Given the description of an element on the screen output the (x, y) to click on. 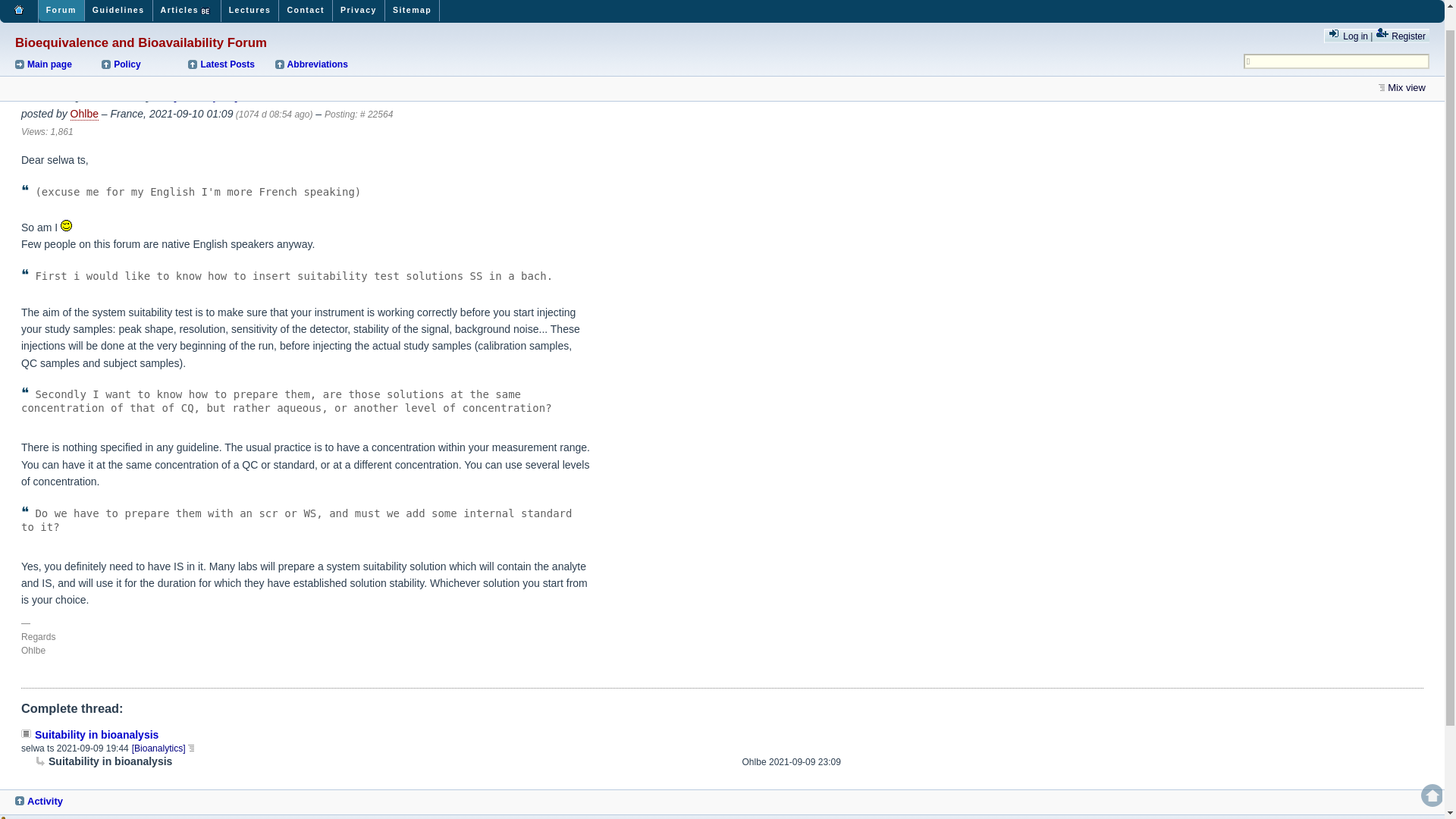
register as new user (1400, 12)
enter search terms (714, 49)
log in (1347, 12)
Main page (56, 41)
Policy (143, 41)
Mix view (1403, 64)
Activity (58, 800)
 Log in (1347, 12)
Abbreviations (317, 41)
